Given the description of an element on the screen output the (x, y) to click on. 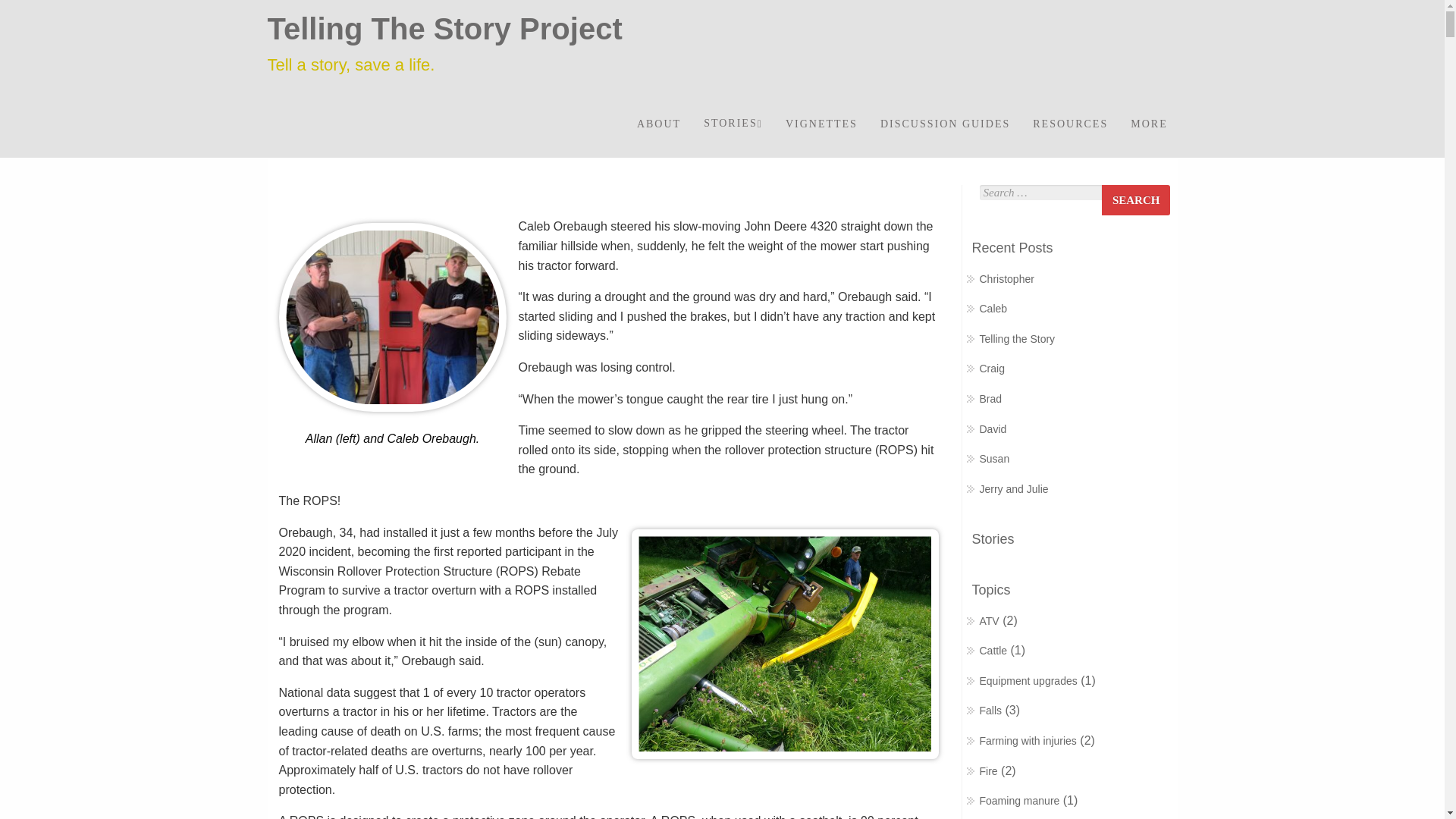
STORIES (732, 124)
ABOUT (658, 124)
Telling The Story Project (443, 28)
Search (1136, 200)
DISCUSSION GUIDES (945, 124)
VIGNETTES (821, 124)
Search (1136, 200)
